Given the description of an element on the screen output the (x, y) to click on. 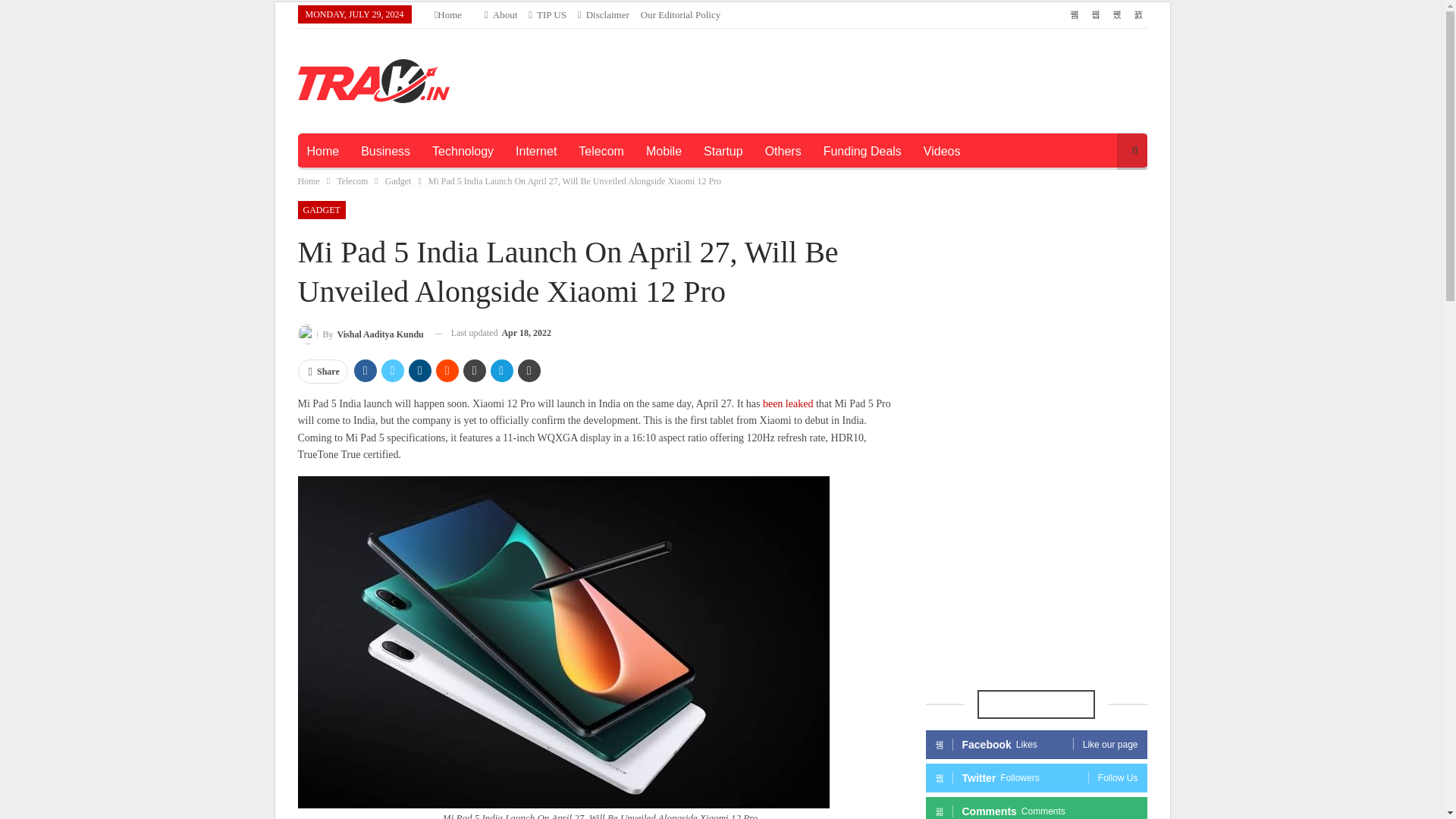
GADGET (321, 209)
Gadget (398, 180)
Internet (536, 151)
Disclaimer (603, 14)
Telecom (352, 180)
TIP US (547, 14)
Business (385, 151)
Mobile (663, 151)
Funding Deals (862, 151)
Disclaimer (603, 14)
About (500, 14)
Technology (462, 151)
been leaked (787, 403)
Videos (941, 151)
Our Editorial Policy (680, 14)
